Given the description of an element on the screen output the (x, y) to click on. 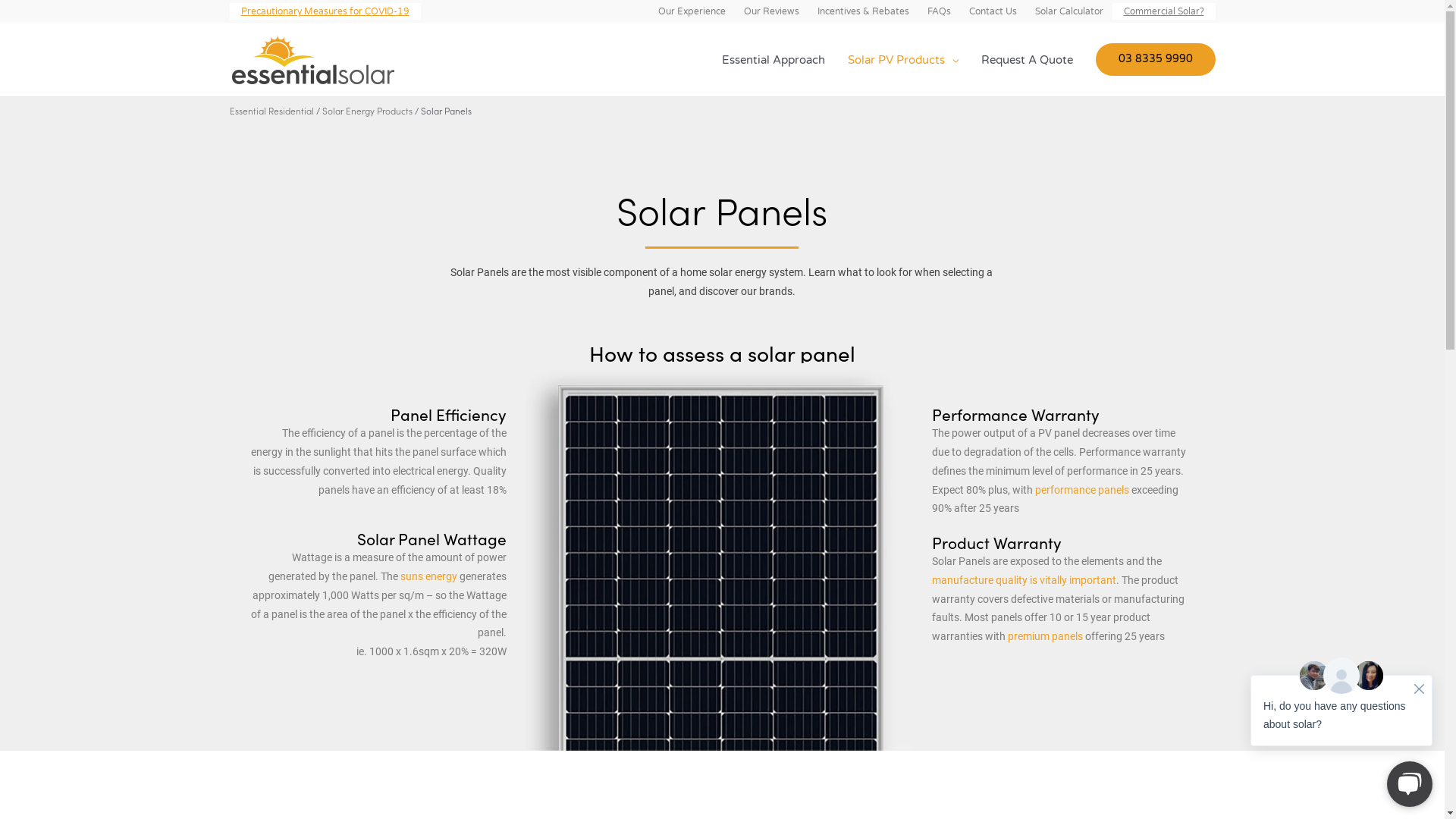
Request A Quote Element type: text (1026, 58)
03 8335 9990 Element type: text (1154, 59)
manufacture quality is vitally important Element type: text (1023, 580)
premium panels Element type: text (1044, 636)
Commercial Solar? Element type: text (1162, 11)
Incentives & Rebates Element type: text (863, 11)
Our Reviews Element type: text (770, 11)
Essential Residential Element type: text (271, 109)
Solar Calculator Element type: text (1068, 11)
Our Experience Element type: text (691, 11)
performance panels Element type: text (1082, 489)
Solar PV Products Element type: text (902, 58)
Essential Approach Element type: text (772, 58)
Contact Us Element type: text (993, 11)
Precautionary Measures for COVID-19 Element type: text (324, 11)
suns energy Element type: text (428, 576)
Solar Energy Products Element type: text (366, 109)
FAQs Element type: text (938, 11)
